Given the description of an element on the screen output the (x, y) to click on. 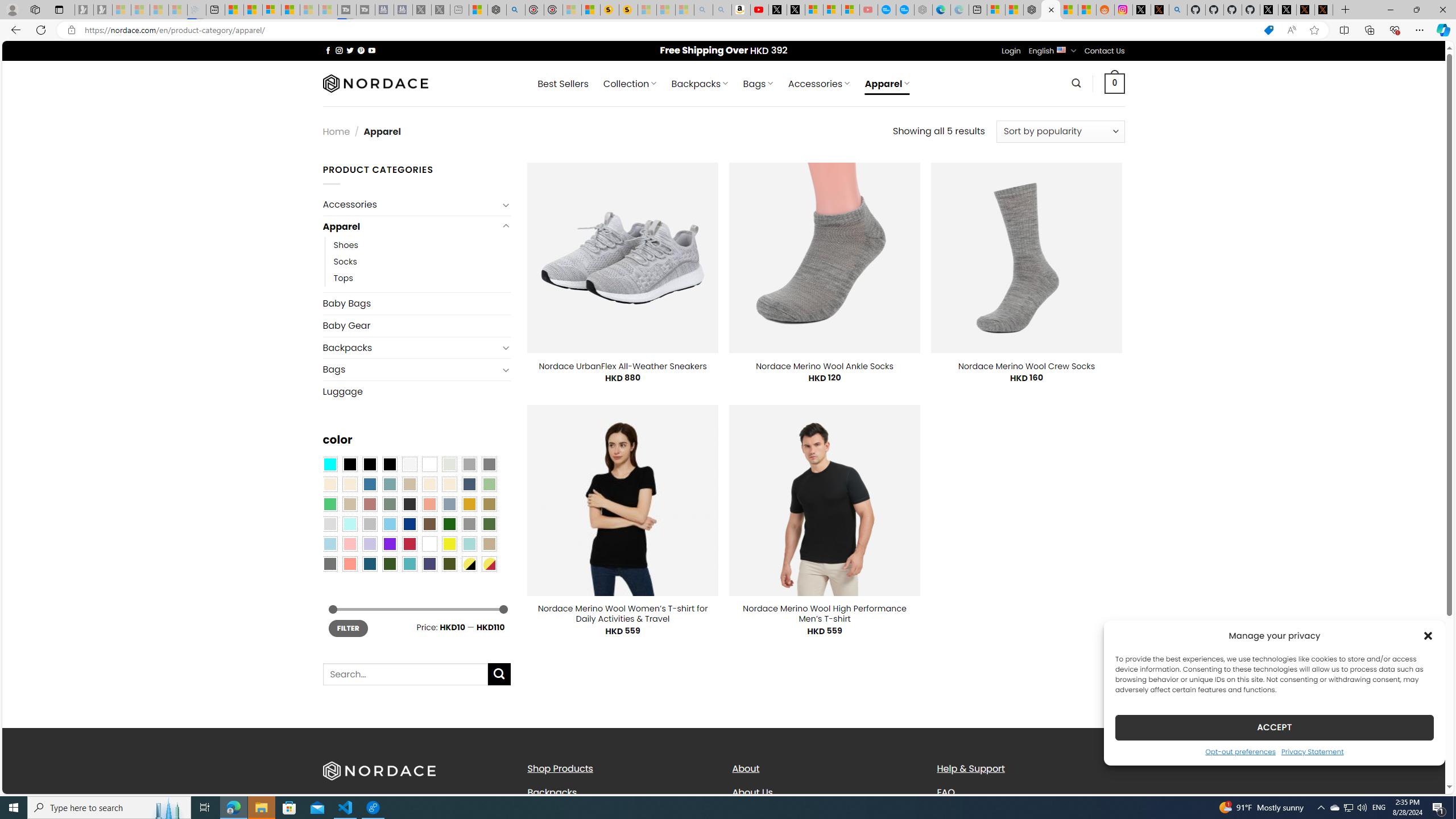
Pearly White (408, 464)
Baby Bags (416, 303)
Opinion: Op-Ed and Commentary - USA TODAY (887, 9)
Tops (422, 278)
Baby Bags (416, 303)
Class: cmplz-close (1428, 635)
Luggage (416, 391)
Kelp (488, 503)
